Given the description of an element on the screen output the (x, y) to click on. 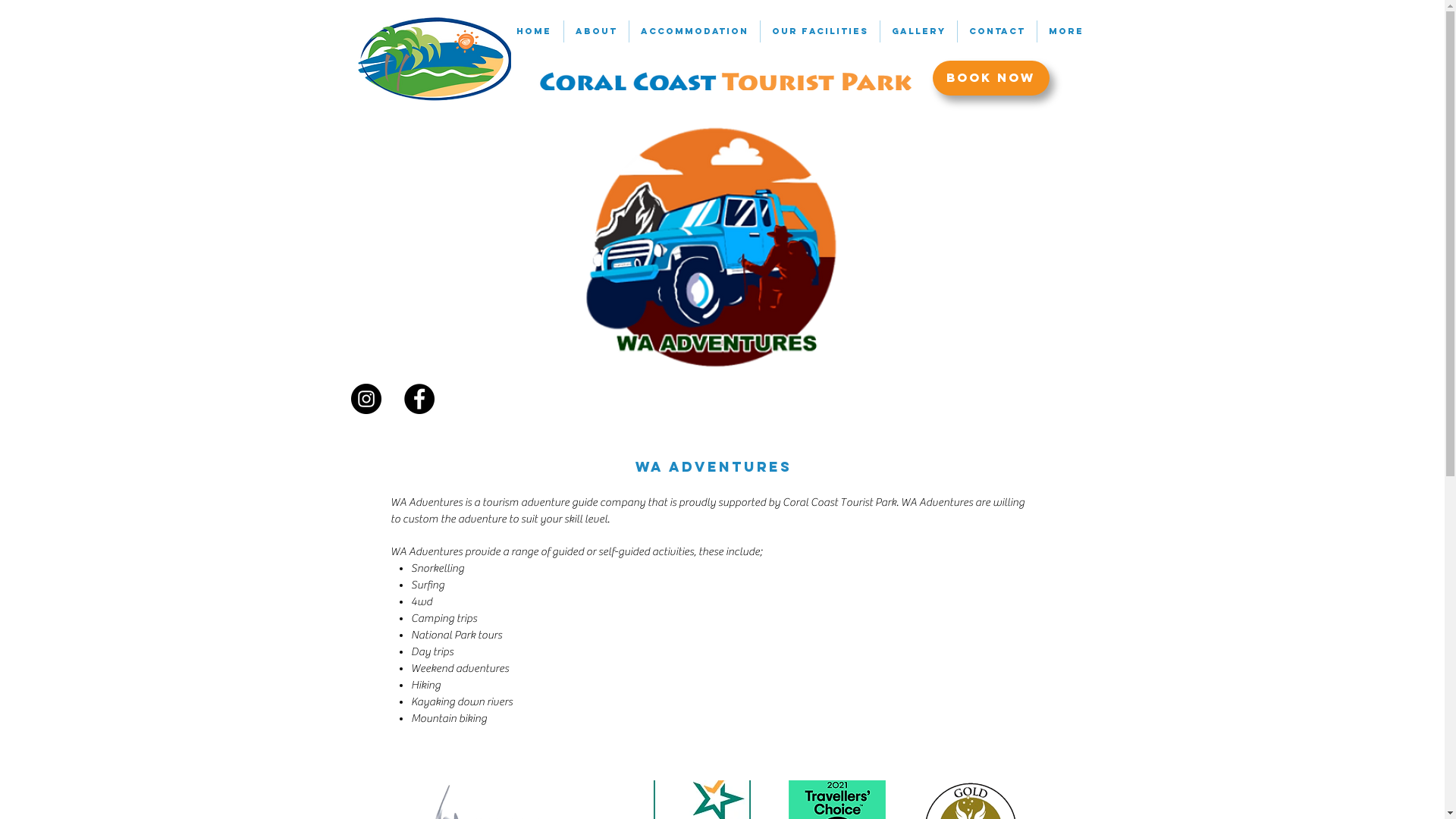
ACCOMMODATION Element type: text (694, 31)
OUR FACILITIES Element type: text (818, 31)
ABOUT Element type: text (596, 31)
BOOK NOW Element type: text (990, 77)
HOME Element type: text (534, 31)
GALLERY Element type: text (917, 31)
Waad_edited_edited_edited_edited_edited_ Element type: hover (708, 265)
CONTACT Element type: text (996, 31)
